Given the description of an element on the screen output the (x, y) to click on. 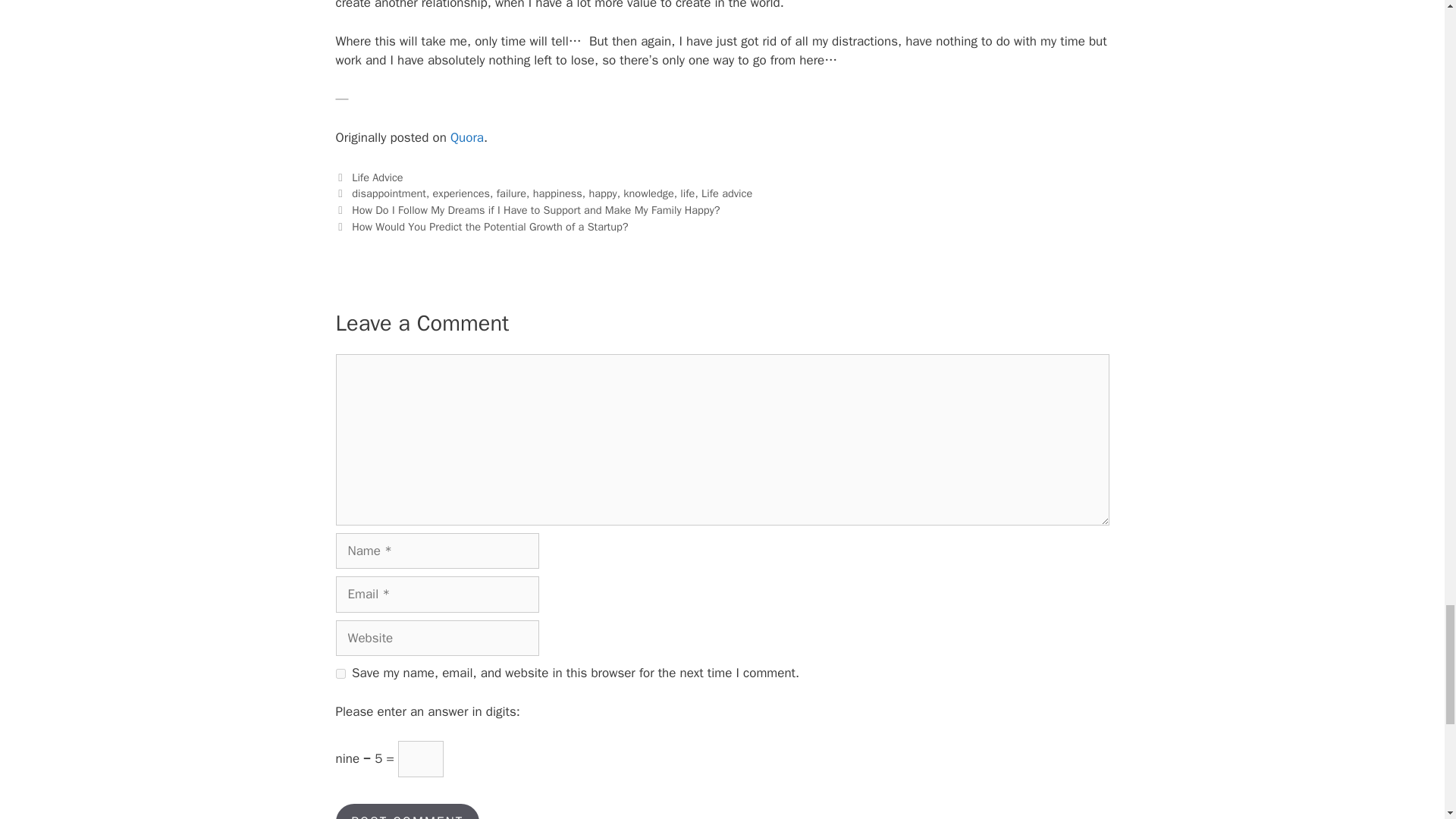
Quora (466, 137)
How Would You Predict the Potential Growth of a Startup? (489, 226)
Life Advice (377, 176)
Post Comment (406, 811)
knowledge (647, 192)
failure (510, 192)
Life advice (726, 192)
life (686, 192)
disappointment (389, 192)
